Given the description of an element on the screen output the (x, y) to click on. 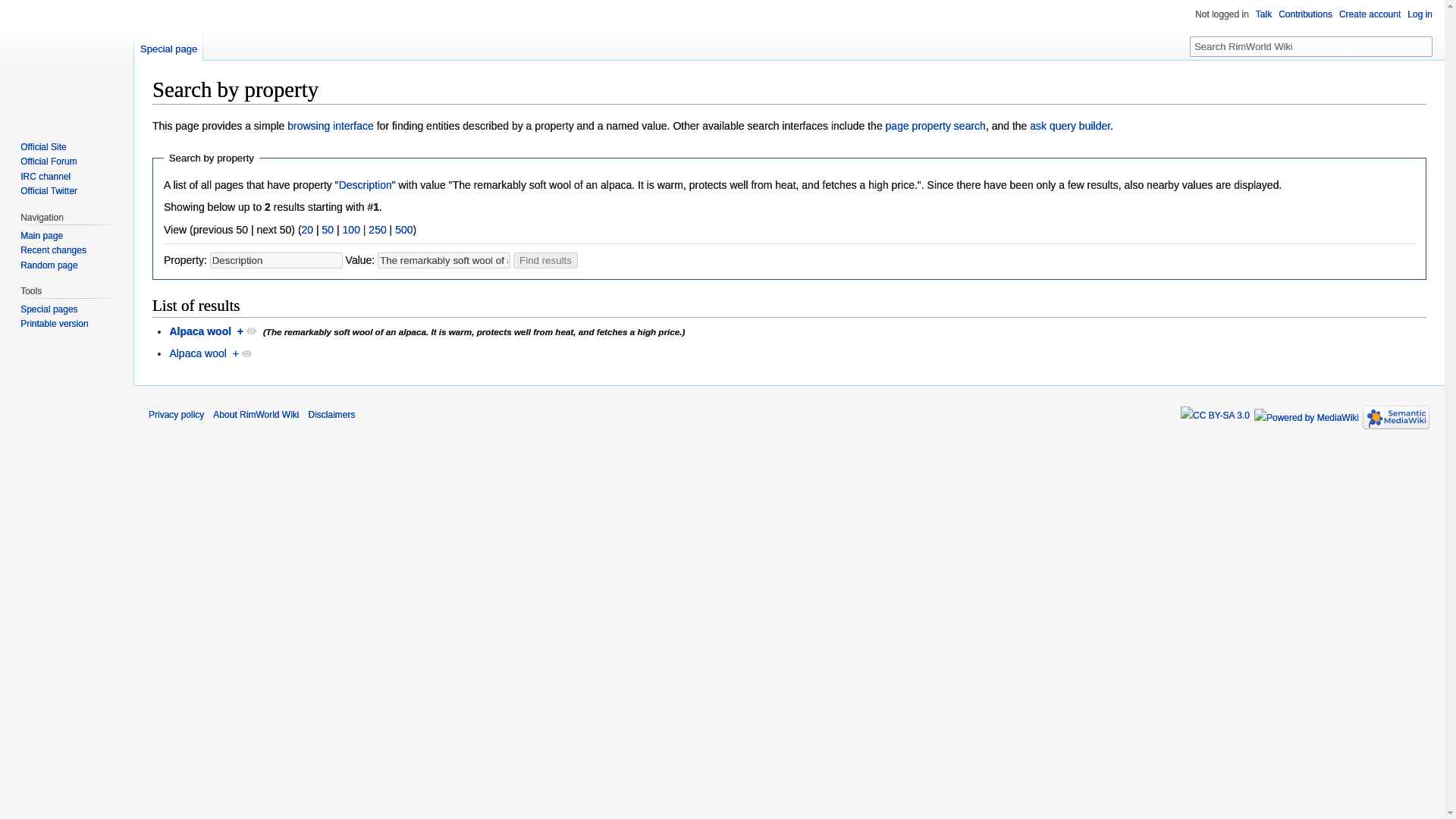
20 (307, 229)
Description (365, 184)
Find results (545, 260)
Official Site (42, 146)
Create account (1369, 14)
250 (376, 229)
Property:Description (365, 184)
Show 20 results per page (307, 229)
Disclaimers (331, 414)
Privacy policy (175, 414)
